Given the description of an element on the screen output the (x, y) to click on. 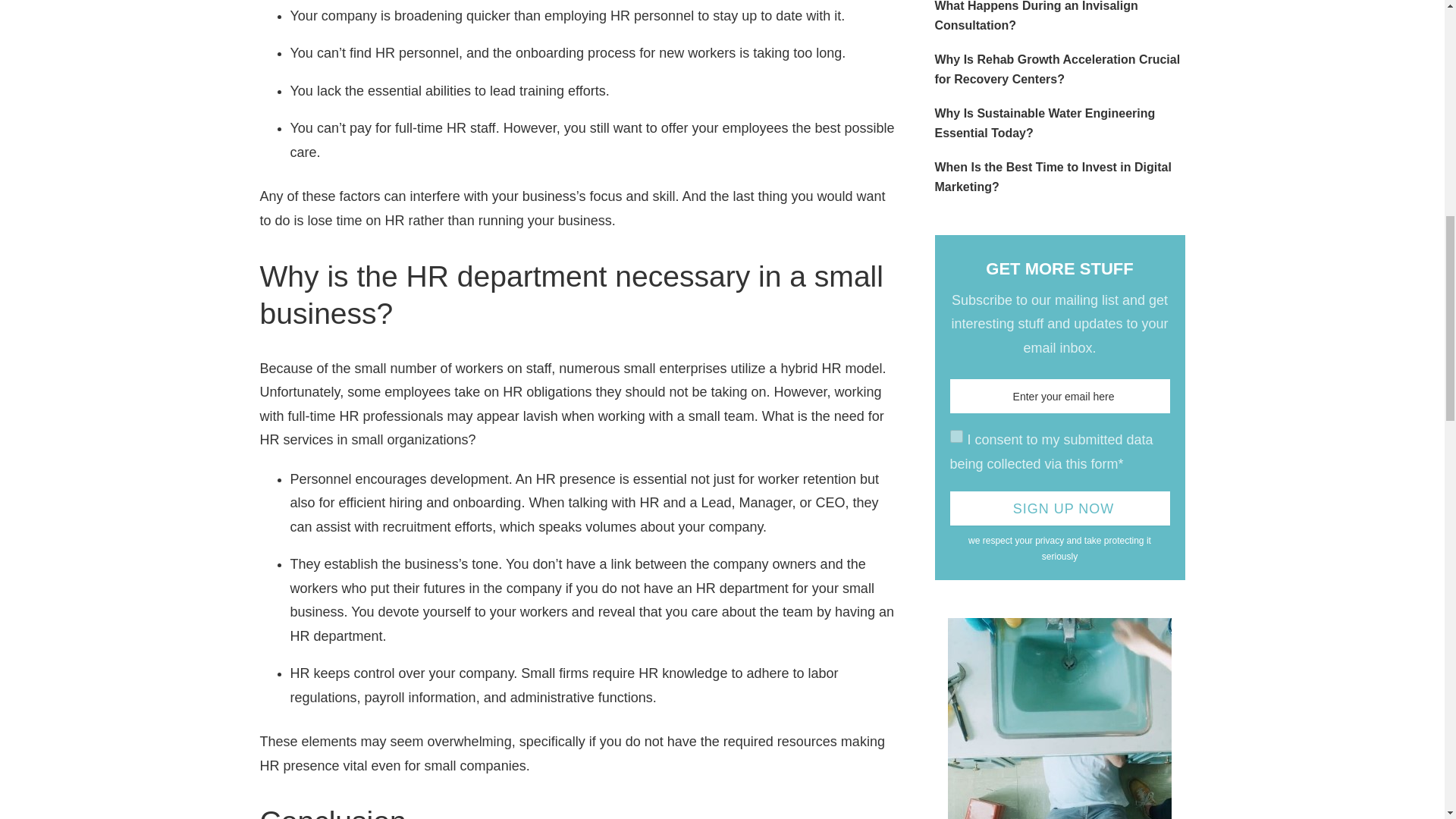
on (955, 436)
Sign Up Now (1059, 508)
